Given the description of an element on the screen output the (x, y) to click on. 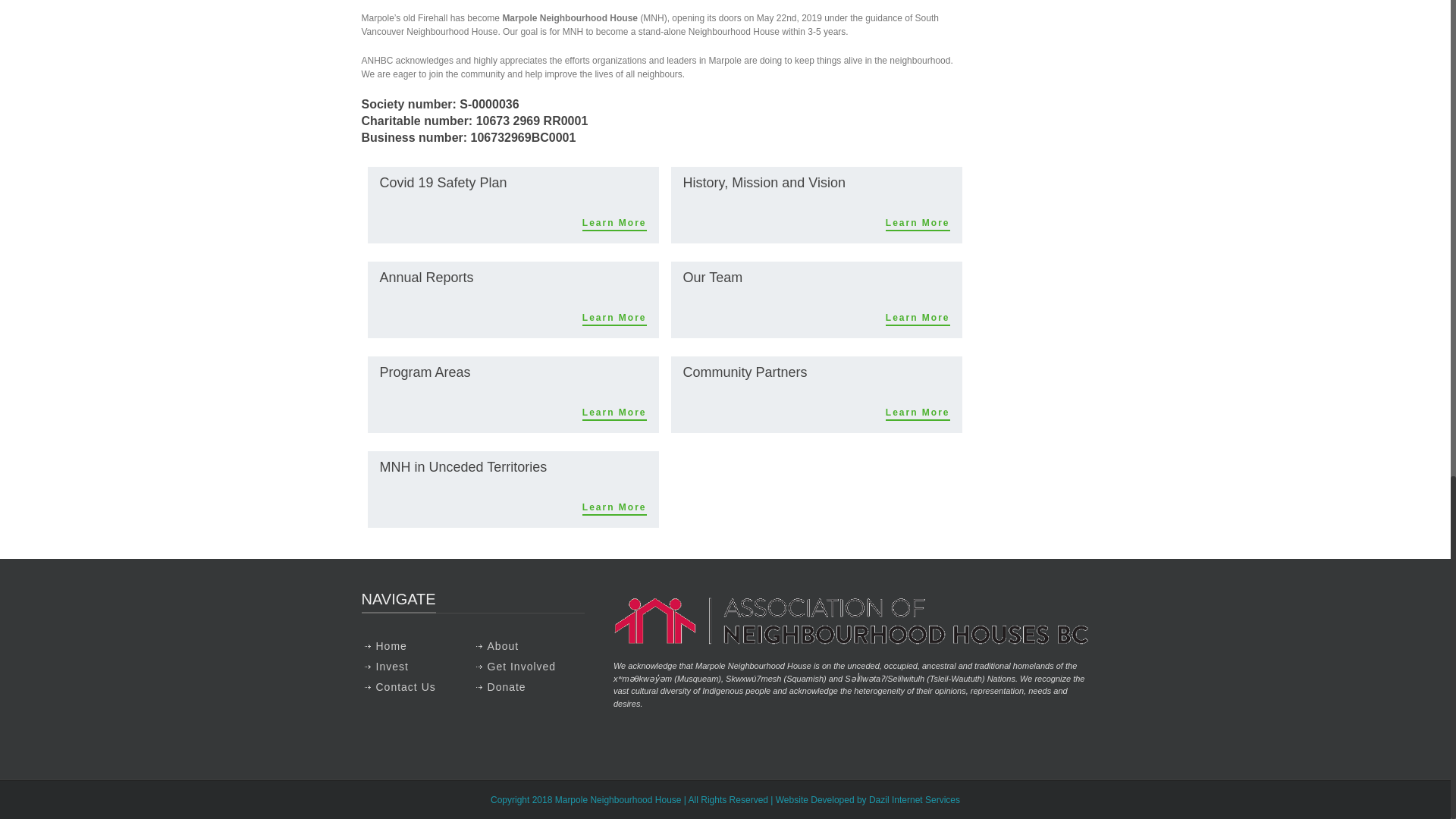
Learn More (917, 412)
Covid 19 Safety Plan (442, 182)
Program Areas (424, 372)
Learn More (614, 223)
History, Mission and Vision (763, 182)
Learn More (917, 318)
Annual Reports (425, 277)
Learn More (614, 318)
Our Team (712, 277)
Learn More (917, 223)
Learn More (614, 412)
Community Partners (744, 372)
